Given the description of an element on the screen output the (x, y) to click on. 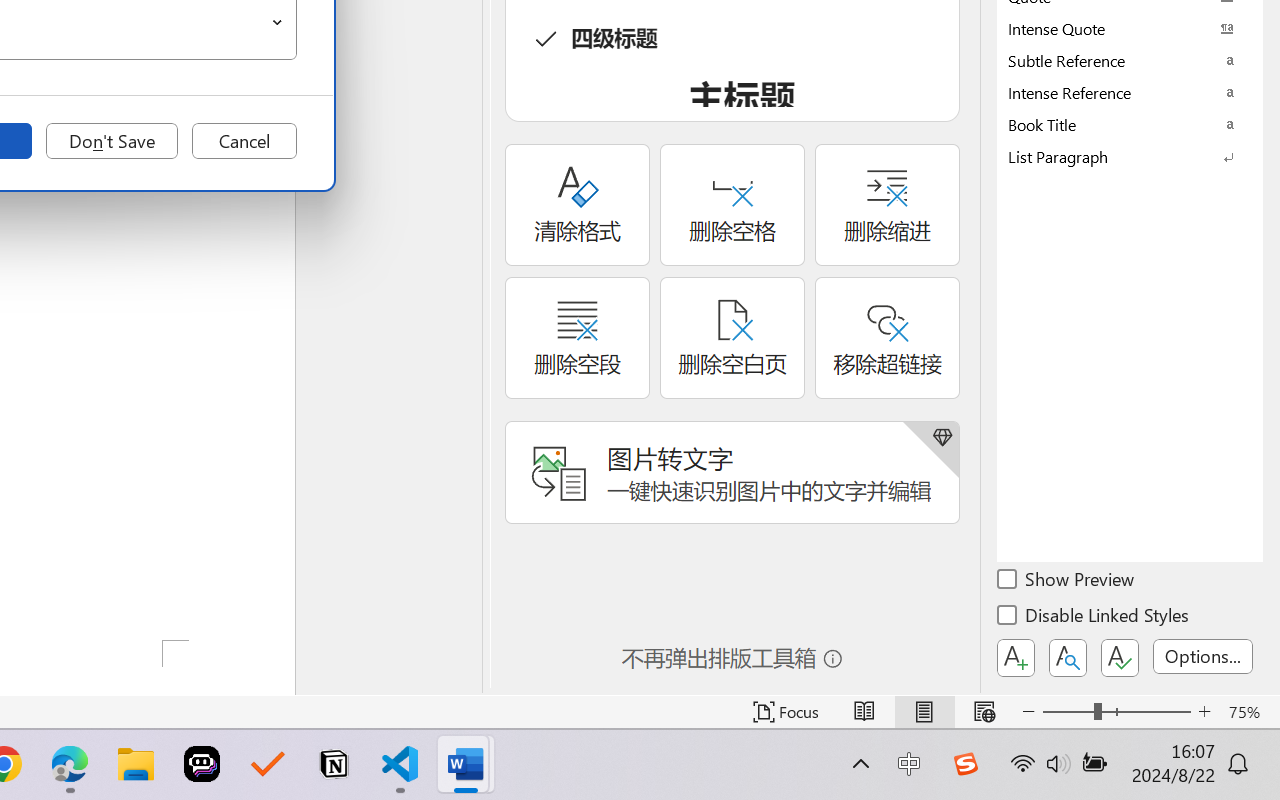
Print Layout (924, 712)
Zoom (1116, 712)
Zoom Out (1067, 712)
Zoom In (1204, 712)
Disable Linked Styles (1094, 618)
Book Title (1130, 124)
Notion (333, 764)
List Paragraph (1130, 156)
